Given the description of an element on the screen output the (x, y) to click on. 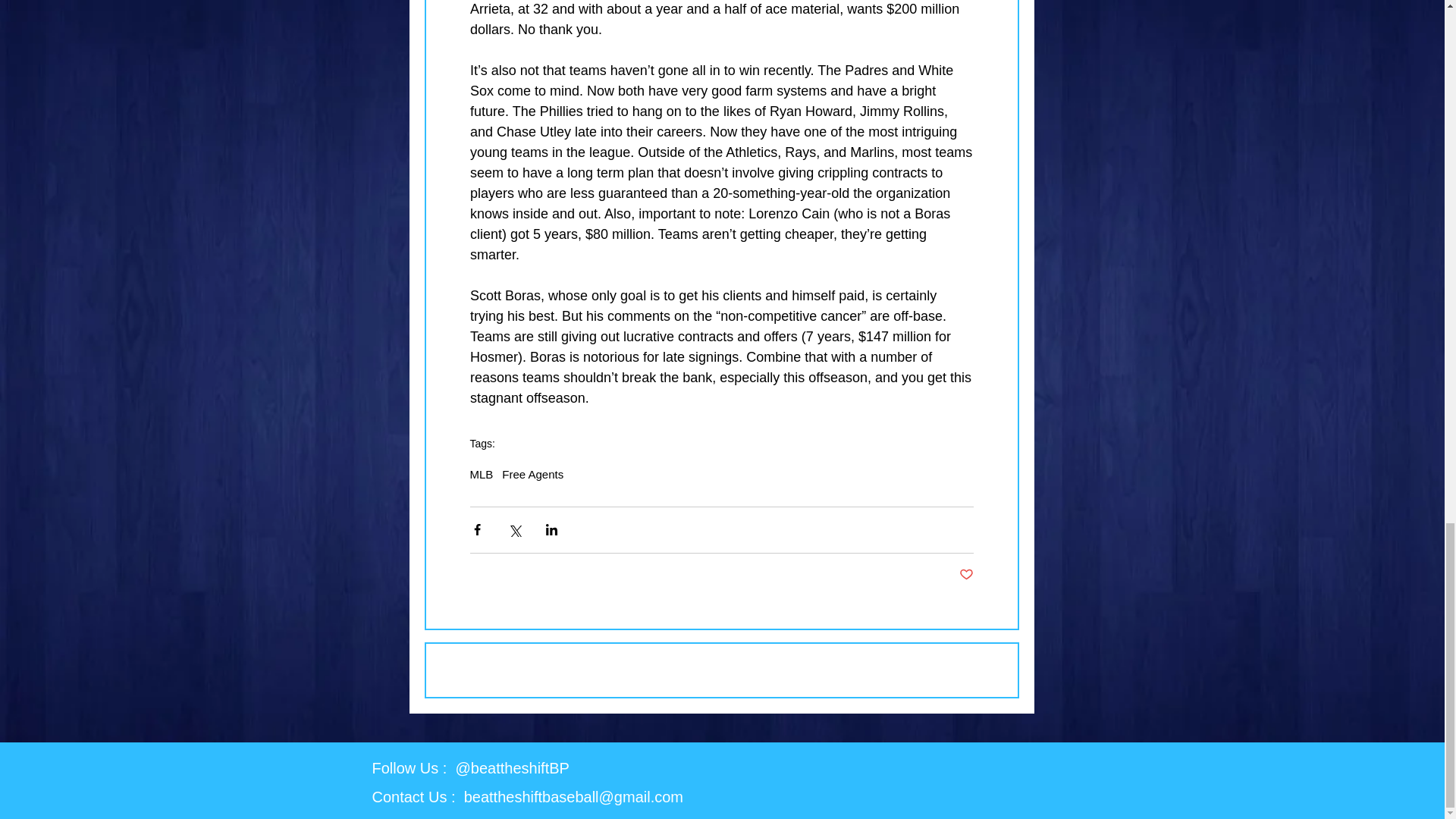
Post not marked as liked (965, 575)
MLB (481, 472)
Free Agents (532, 472)
